Given the description of an element on the screen output the (x, y) to click on. 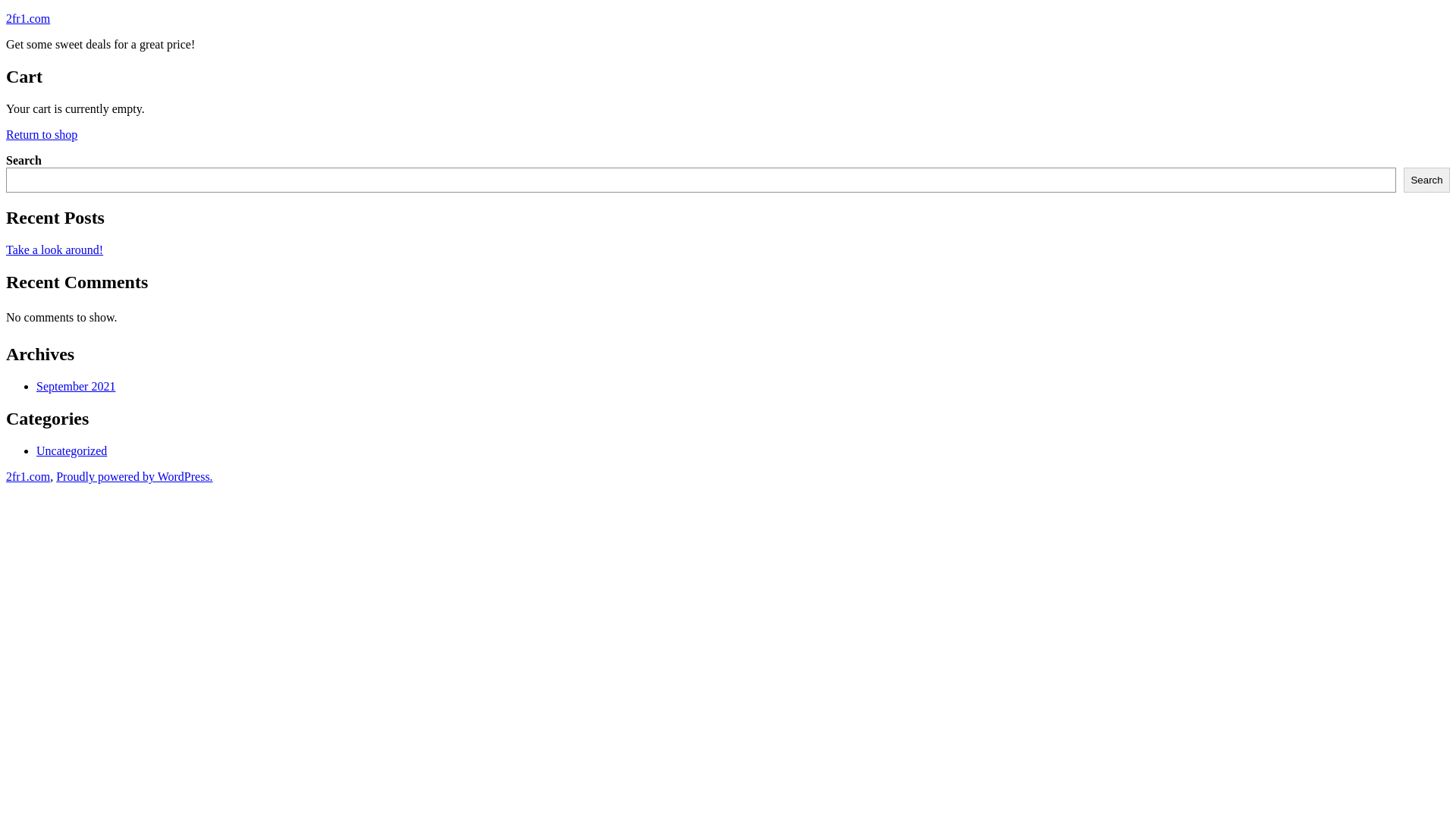
Skip to content Element type: text (5, 11)
2fr1.com Element type: text (28, 476)
2fr1.com Element type: text (28, 18)
Return to shop Element type: text (41, 134)
Proudly powered by WordPress. Element type: text (134, 476)
September 2021 Element type: text (75, 385)
Uncategorized Element type: text (71, 450)
Take a look around! Element type: text (54, 249)
Search Element type: text (1426, 179)
